Given the description of an element on the screen output the (x, y) to click on. 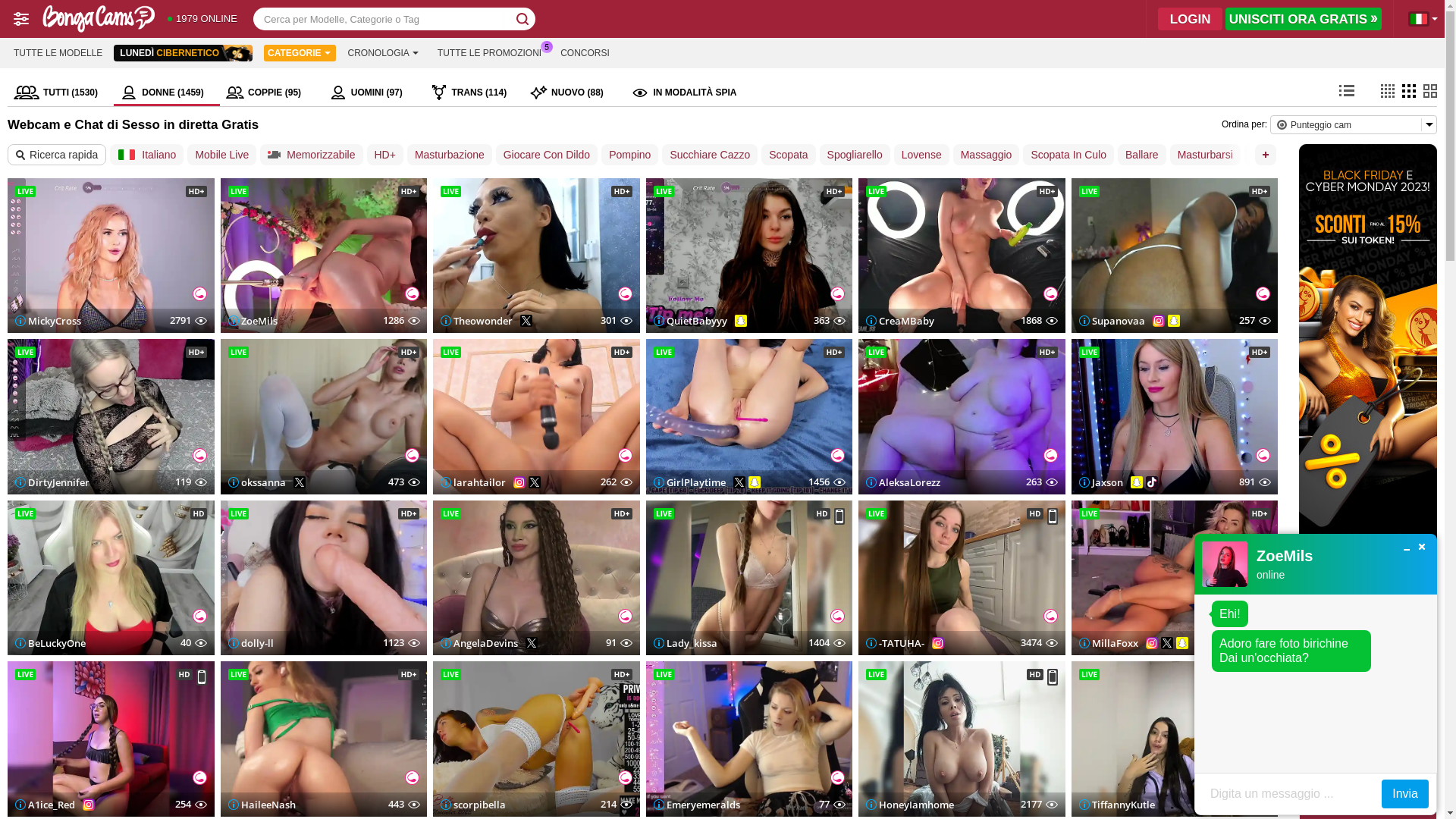
Masturbazione Element type: text (449, 154)
Theowonder Element type: text (476, 320)
Emeryemeralds Element type: text (696, 803)
Ballare Element type: text (1141, 154)
CreaMBaby Element type: text (900, 320)
DirtyJennifer Element type: text (52, 482)
Masturbarsi Element type: text (1205, 154)
scorpibella Element type: text (472, 803)
A1ice_Red Element type: text (45, 803)
larahtailor Element type: text (472, 482)
Memorizzabile Element type: text (311, 154)
Italiano Element type: text (146, 154)
TRANS (114) Element type: text (473, 92)
dolly-ll Element type: text (250, 642)
CONCORSI Element type: text (584, 52)
Scopata Element type: text (788, 154)
GirlPlaytime Element type: text (689, 482)
-TATUHA- Element type: text (895, 642)
HoneyIamhome Element type: text (909, 803)
ZoeMils Element type: text (251, 320)
LOGIN Element type: text (1189, 18)
AngelaDevins Element type: text (478, 642)
QuietBabyyy Element type: text (690, 320)
TUTTI (1530) Element type: text (60, 92)
TUTTE LE MODELLE Element type: text (57, 52)
Lovense Element type: text (921, 154)
DONNE (1459) Element type: text (166, 92)
okssanna Element type: text (256, 482)
Massaggio Element type: text (986, 154)
Lady_kissa Element type: text (685, 642)
SweetGattina Element type: text (1367, 745)
COPPIE (95) Element type: text (271, 92)
NUOVO (88) Element type: text (573, 92)
Supanovaa Element type: text (1111, 320)
UNISCITI ORA GRATIS Element type: text (1303, 18)
HaileeNash Element type: text (260, 803)
Pompino Element type: text (629, 154)
Mobile Live Element type: text (221, 154)
Succhiare Cazzo Element type: text (709, 154)
MillaFoxx Element type: text (1107, 642)
Giocare Con Dildo Element type: text (546, 154)
Scopata In Culo Element type: text (1067, 154)
BeLuckyOne Element type: text (50, 642)
AleksaLorezz Element type: text (903, 482)
Spogliarello Element type: text (854, 154)
TiffannyKutle Element type: text (1116, 803)
HD+ Element type: text (385, 154)
MickyCross Element type: text (48, 320)
Jaxson Element type: text (1100, 482)
TUTTE LE PROMOZIONI Element type: text (489, 52)
Chattare Element type: text (1272, 154)
UOMINI (97) Element type: text (373, 92)
